Given the description of an element on the screen output the (x, y) to click on. 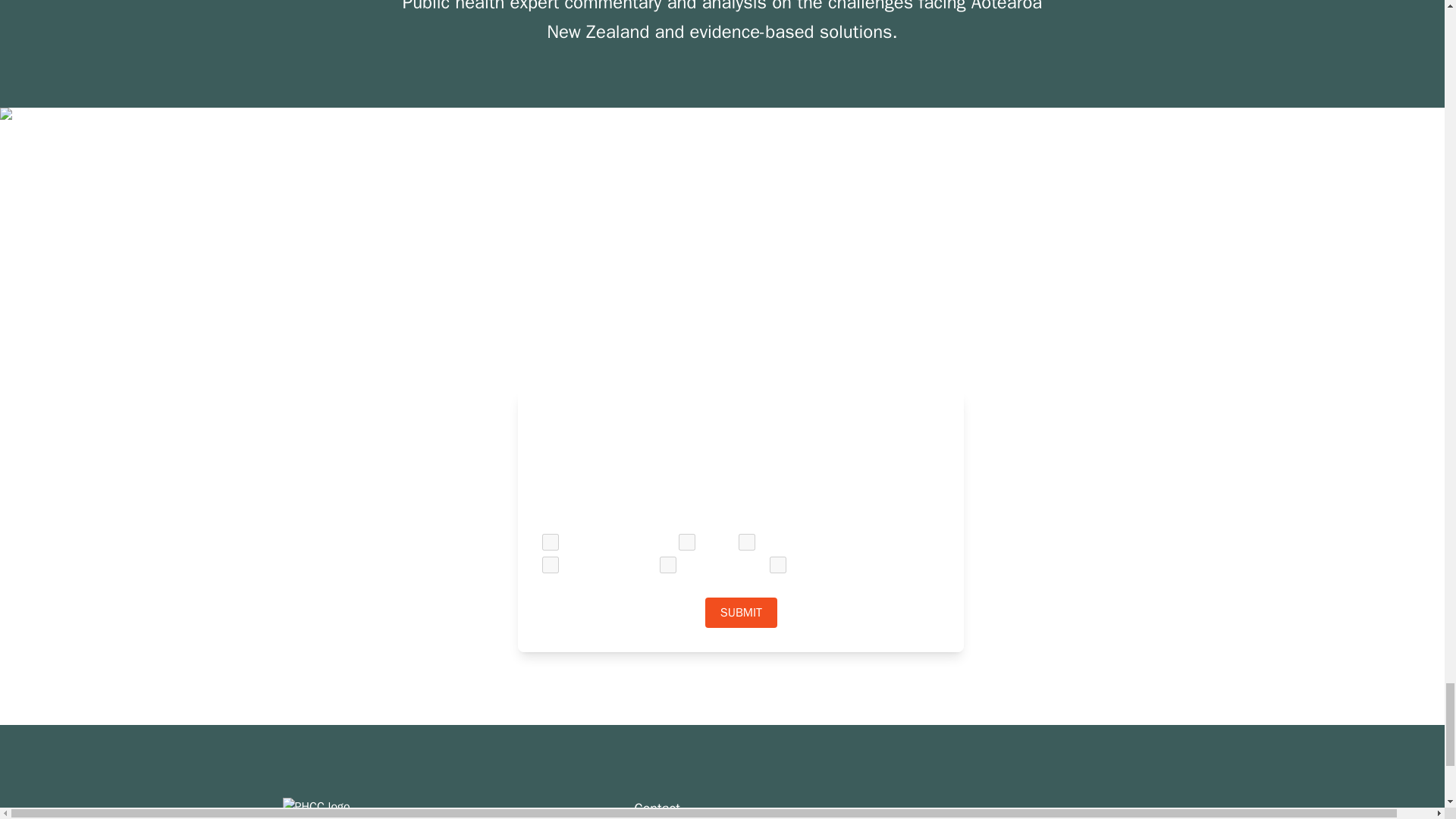
73fdc935e7 (778, 564)
d887bd3215 (550, 541)
bf0dbdefd9 (668, 564)
7cedd56cb1 (550, 564)
3c4929455e (746, 541)
97da1f6819 (686, 541)
